Given the description of an element on the screen output the (x, y) to click on. 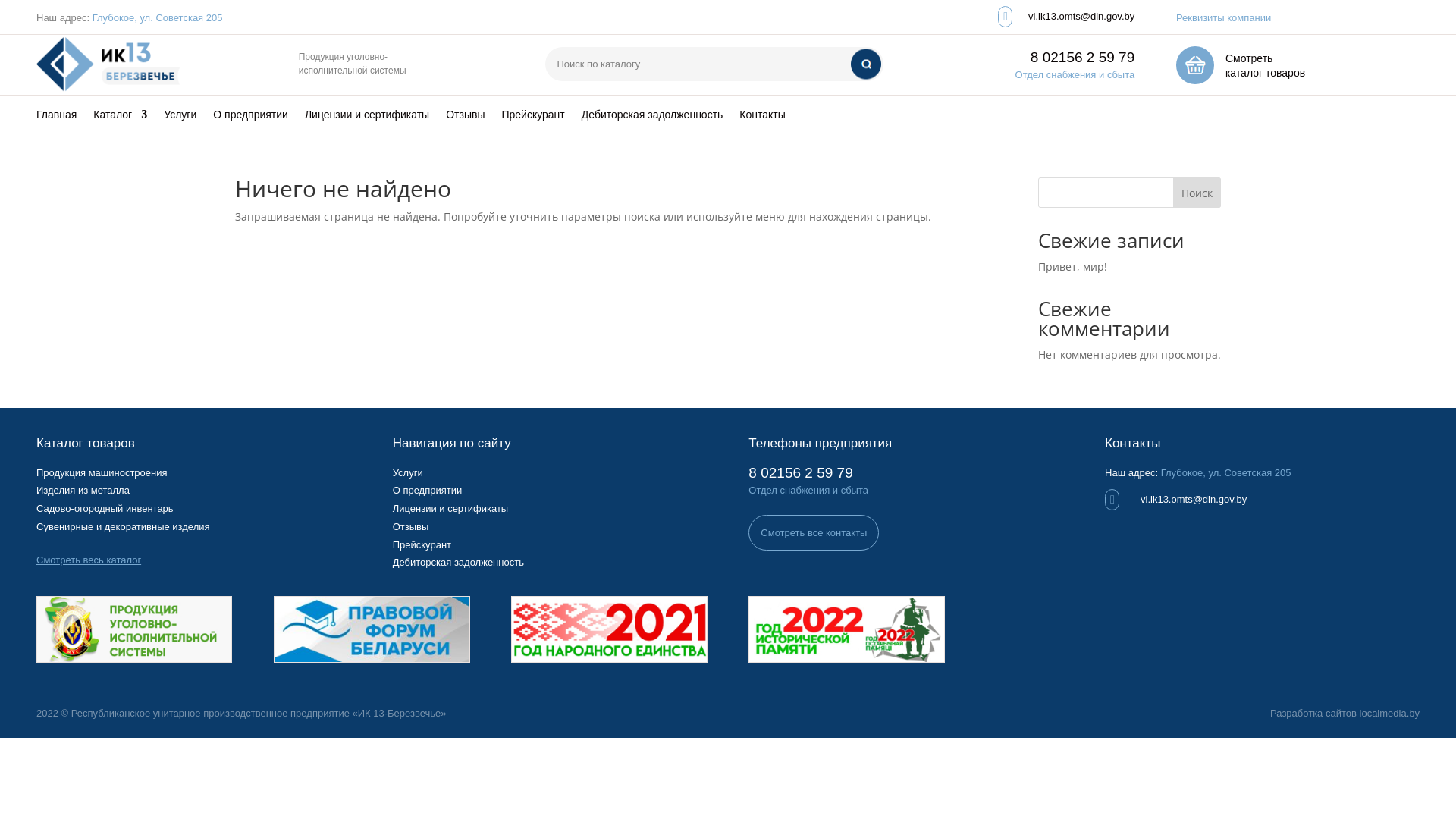
8 02156 2 59 79 Element type: text (1082, 57)
vi.ik13.omts@din.gov.by Element type: text (1193, 499)
f010e3d60f82733d820c2025f345ac6a-300x150 Element type: hover (371, 628)
logoBig Element type: hover (134, 628)
vi.ik13.omts@din.gov.by Element type: text (1081, 15)
ik_logo Element type: hover (108, 65)
gip2022hatyn (1) Element type: hover (846, 628)
8 02156 2 59 79 Element type: text (800, 472)
